Given the description of an element on the screen output the (x, y) to click on. 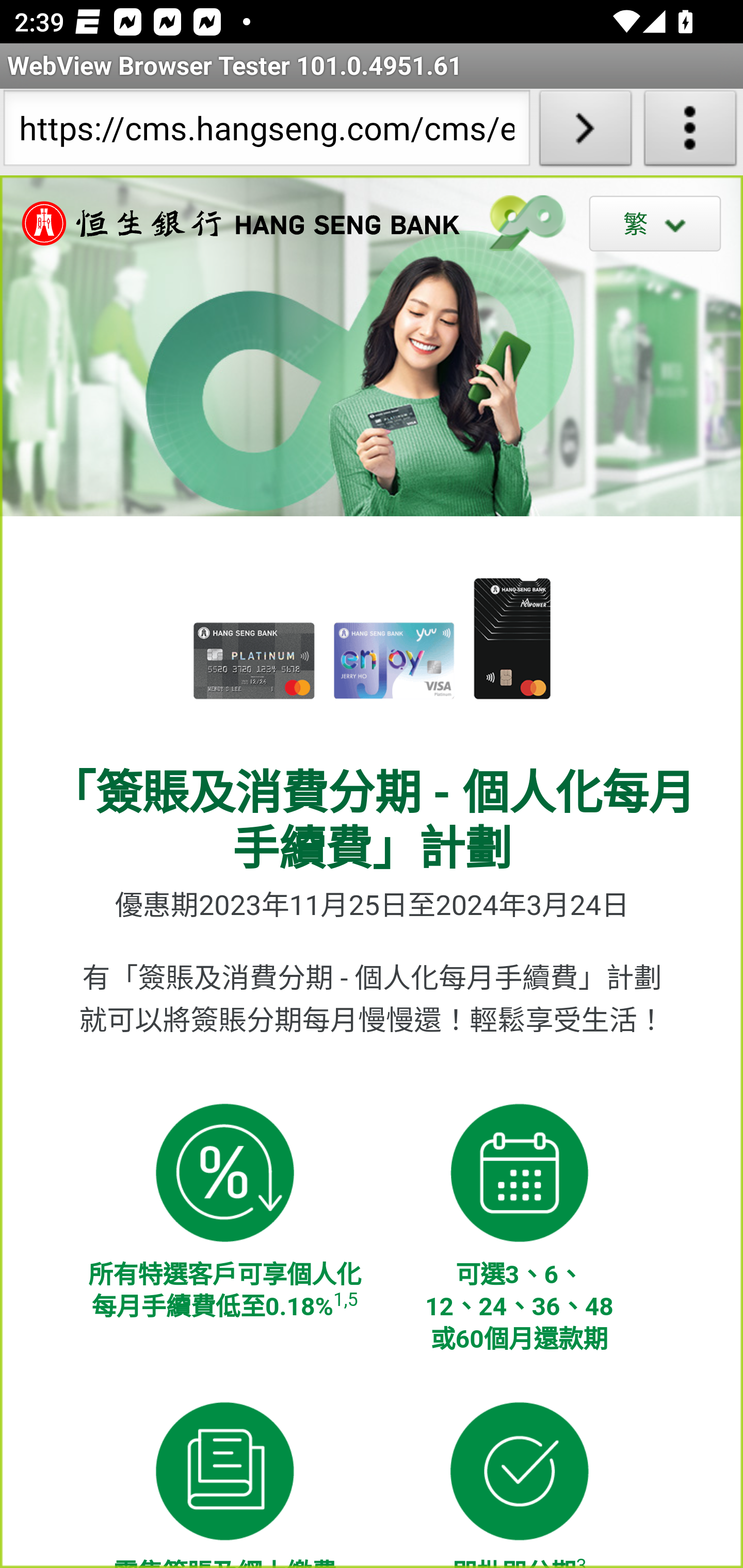
Load URL (585, 132)
About WebView (690, 132)
恒生銀行 Hang Sang Bank (231, 223)
繁 繁    (655, 223)
